Given the description of an element on the screen output the (x, y) to click on. 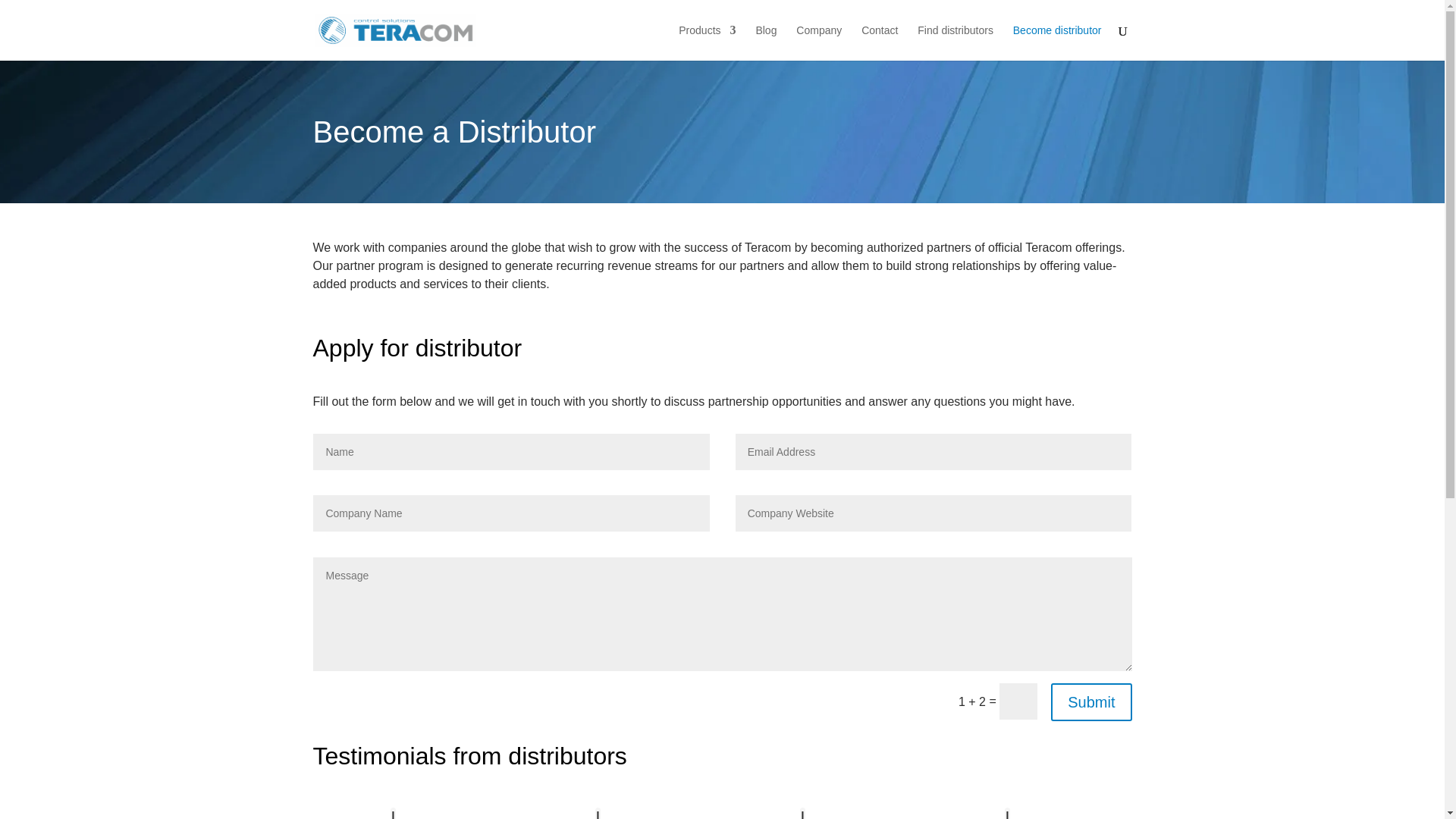
Products (706, 42)
Company (818, 42)
Submit (1091, 702)
Find distributors (954, 42)
Contact (879, 42)
Become distributor (1057, 42)
